Given the description of an element on the screen output the (x, y) to click on. 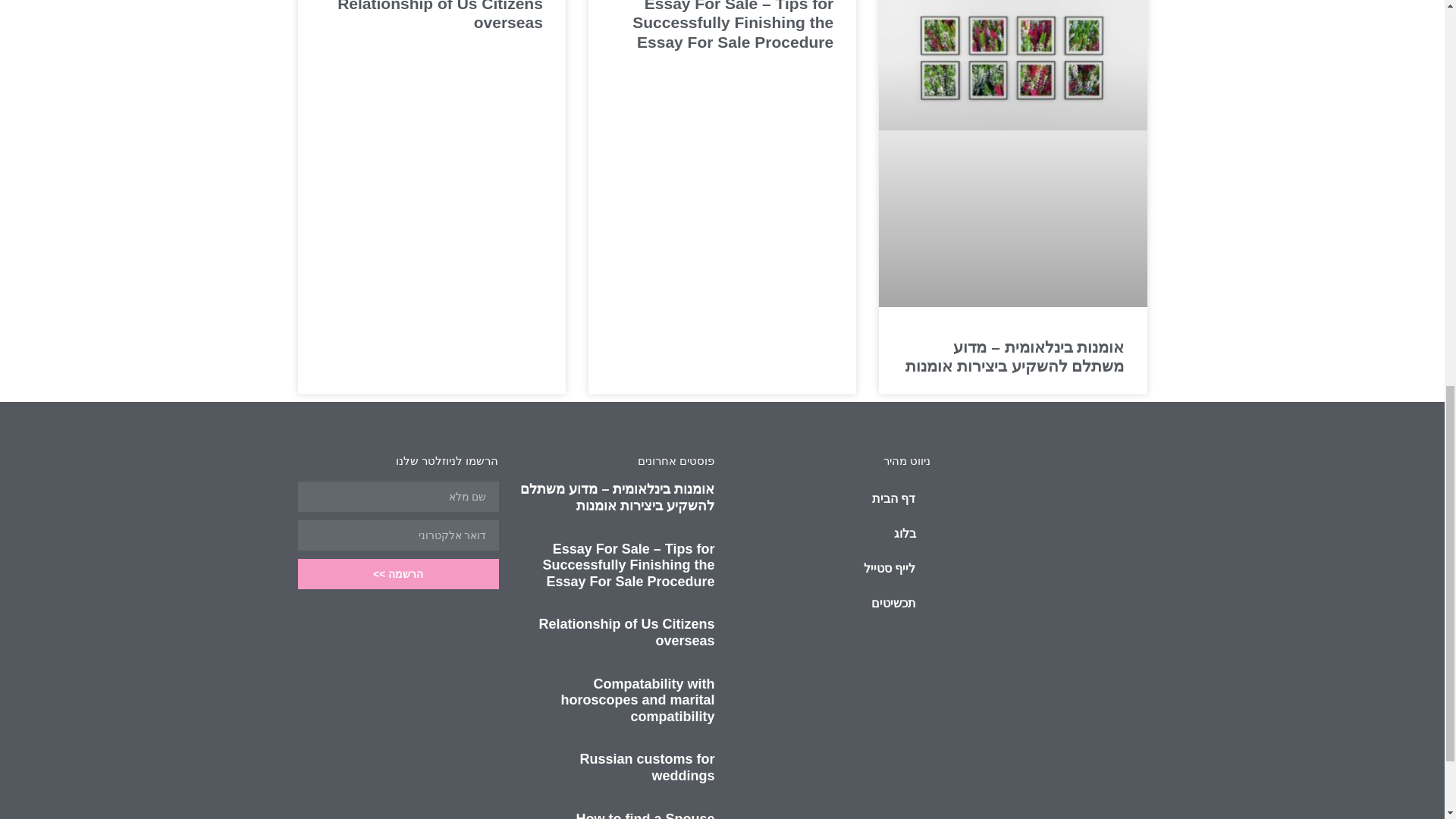
Relationship of Us Citizens overseas (626, 632)
Compatability with horoscopes and marital compatibility (637, 699)
Relationship of Us Citizens overseas (440, 15)
How to find a Spouse (645, 815)
Russian customs for weddings (646, 766)
